Given the description of an element on the screen output the (x, y) to click on. 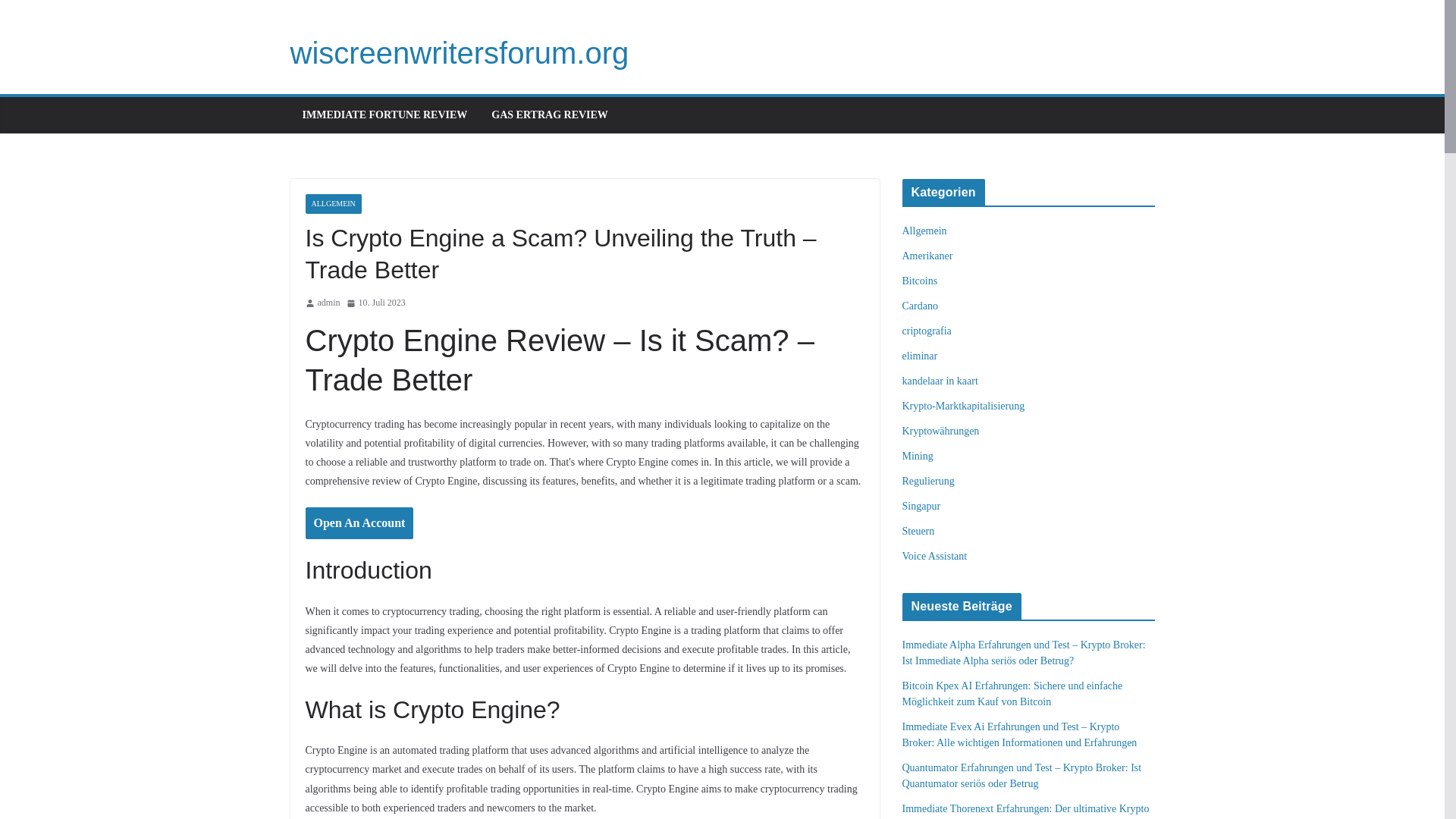
Regulierung (928, 480)
GAS ERTRAG REVIEW (550, 115)
admin (328, 303)
Voice Assistant (935, 555)
Krypto-Marktkapitalisierung (963, 405)
wiscreenwritersforum.org (458, 52)
admin (328, 303)
wiscreenwritersforum.org (458, 52)
kandelaar in kaart (940, 380)
Singapur (921, 505)
10. Juli 2023 (375, 303)
Open An Account (358, 522)
IMMEDIATE FORTUNE REVIEW (384, 115)
Bitcoins (919, 280)
Allgemein (924, 230)
